Given the description of an element on the screen output the (x, y) to click on. 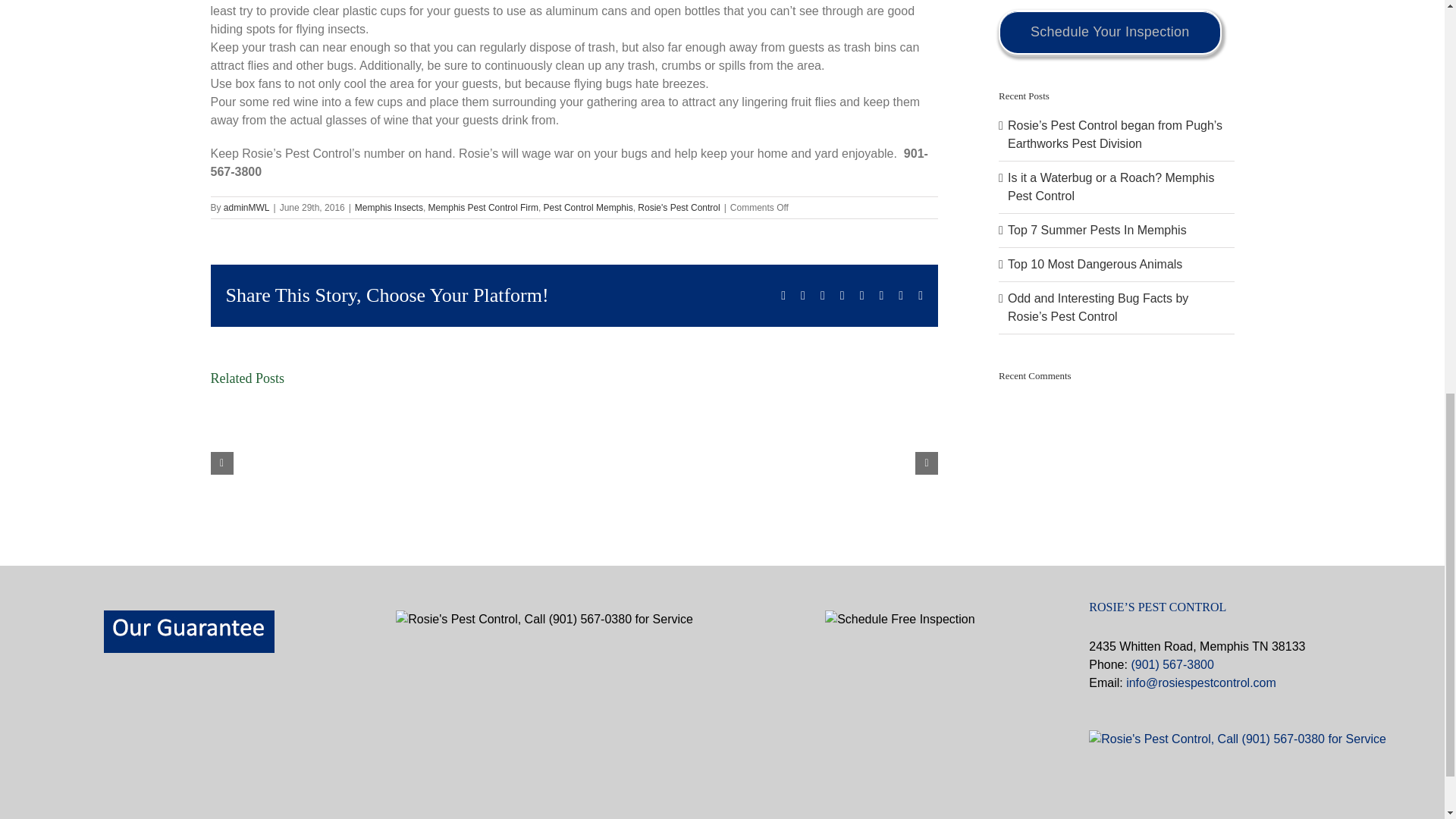
Rosie's Pest Control (678, 207)
Memphis Pest Control Firm (483, 207)
Memphis Insects (389, 207)
Posts by adminMWL (246, 207)
adminMWL (246, 207)
Pest Control Memphis (588, 207)
